Given the description of an element on the screen output the (x, y) to click on. 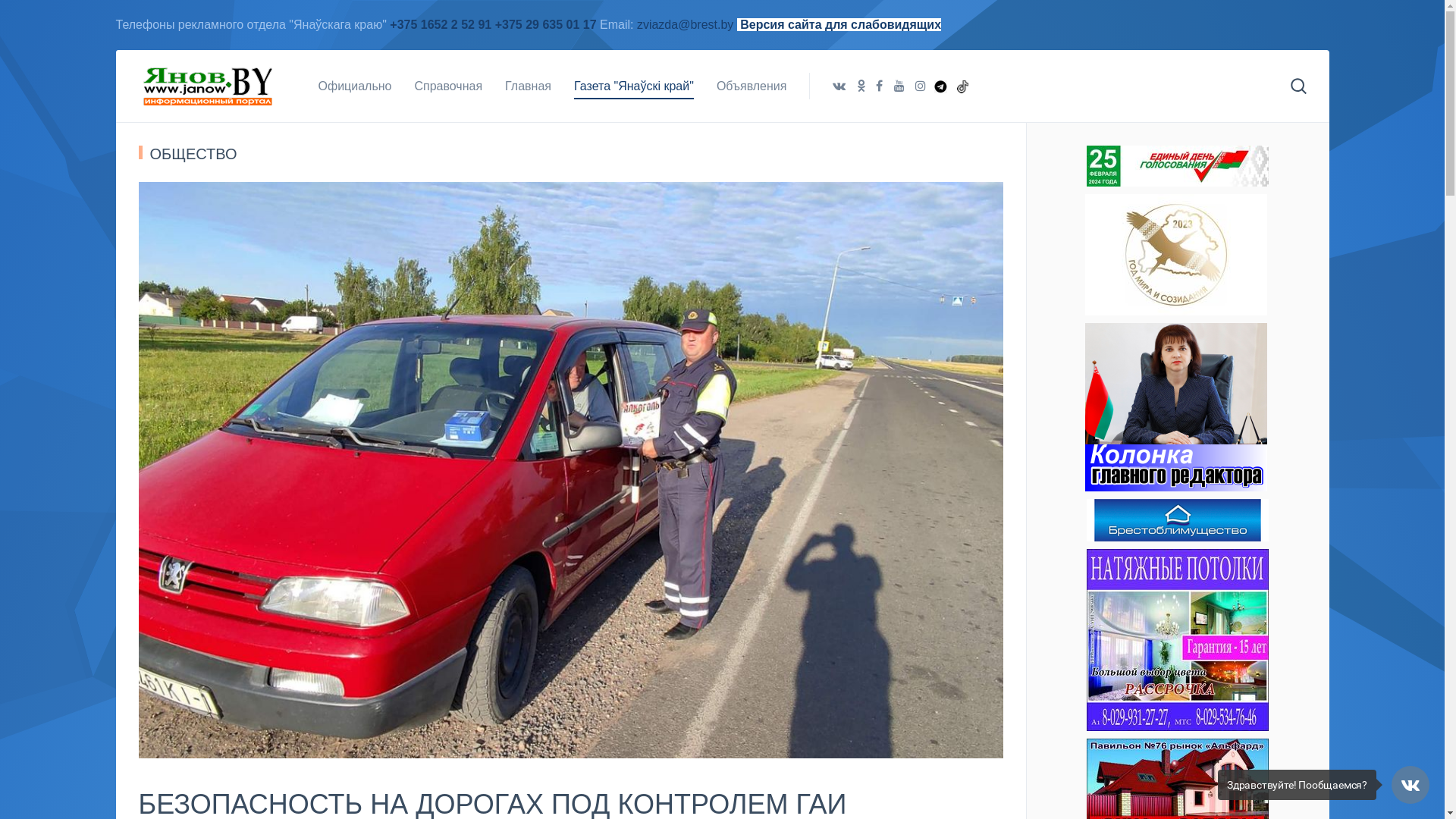
+375 29 635 01 17 Element type: text (545, 24)
zviazda@brest.by Element type: text (687, 24)
+375 1652 2 52 91 Element type: text (440, 24)
